Given the description of an element on the screen output the (x, y) to click on. 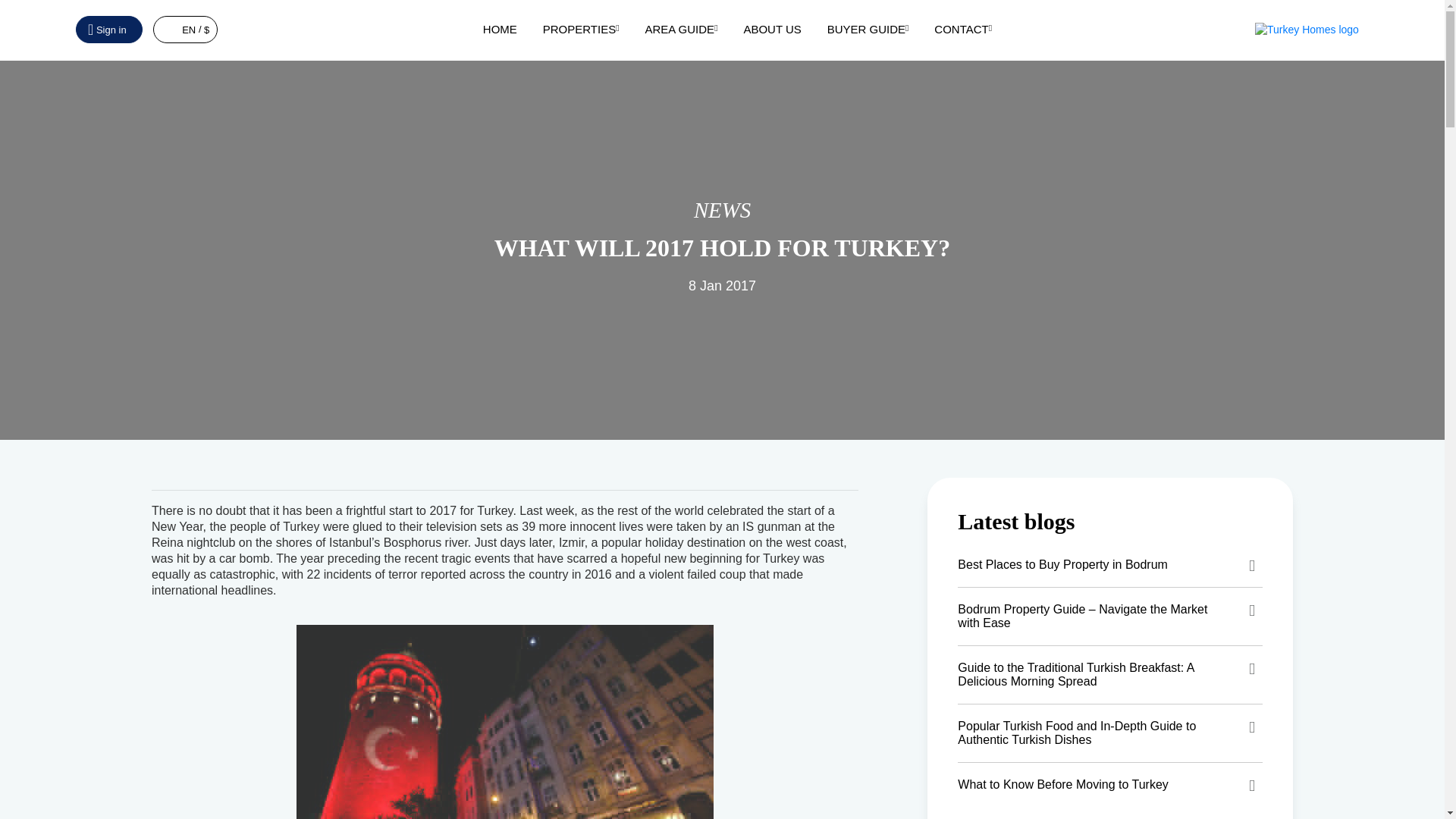
AREA GUIDE (681, 28)
PROPERTIES (581, 28)
HOME (499, 28)
bodrum-property-guide-navigate-the-market-with-ease (1110, 616)
ABOUT US (771, 28)
best-places-to-buy-property-in-bodrum (1110, 564)
Sign in (108, 29)
what-to-know-before-moving-to-turkey (1110, 784)
